Given the description of an element on the screen output the (x, y) to click on. 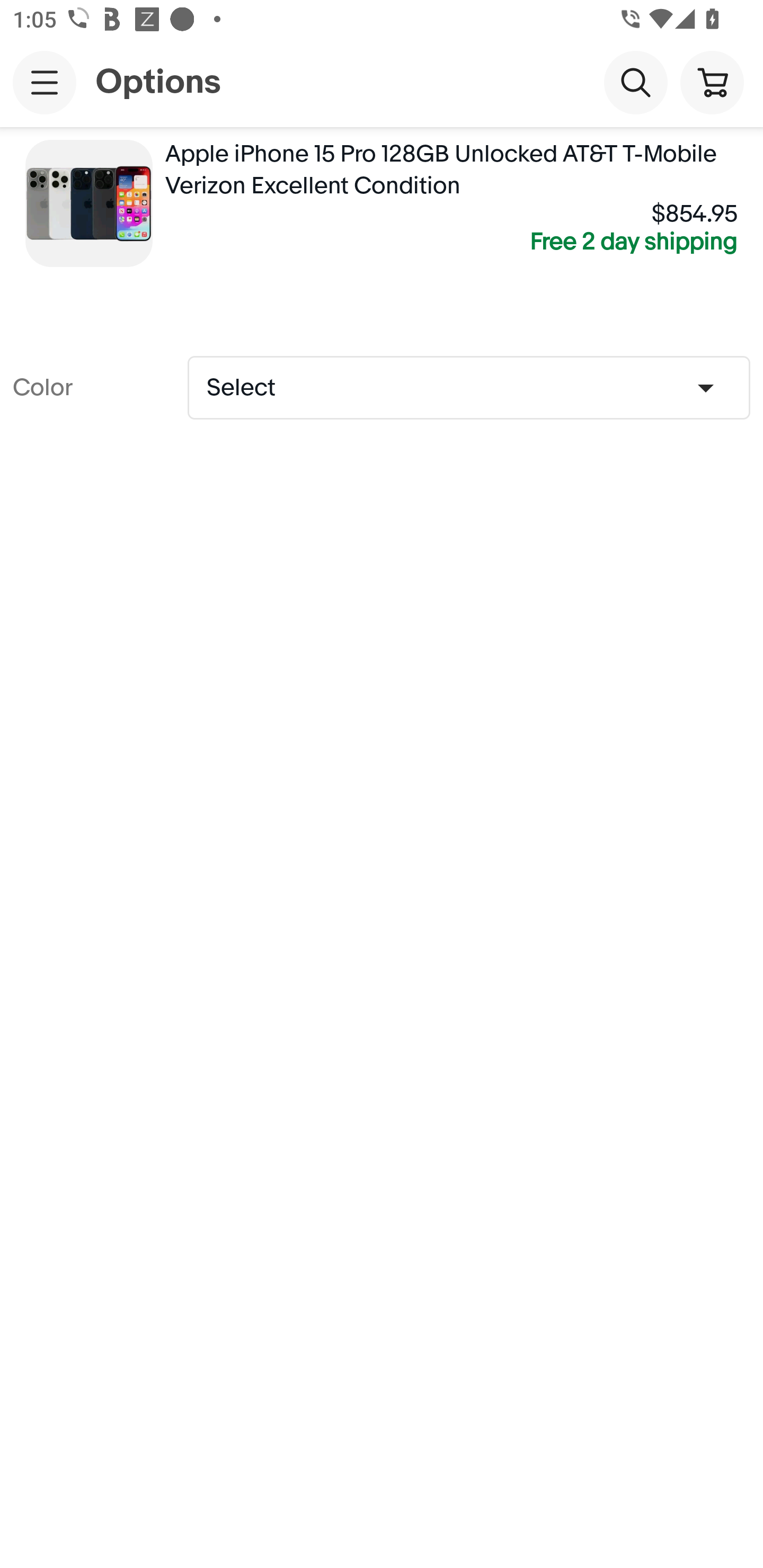
Main navigation, open (44, 82)
Search (635, 81)
Cart button shopping cart (711, 81)
Color,No selection Select (468, 387)
